Given the description of an element on the screen output the (x, y) to click on. 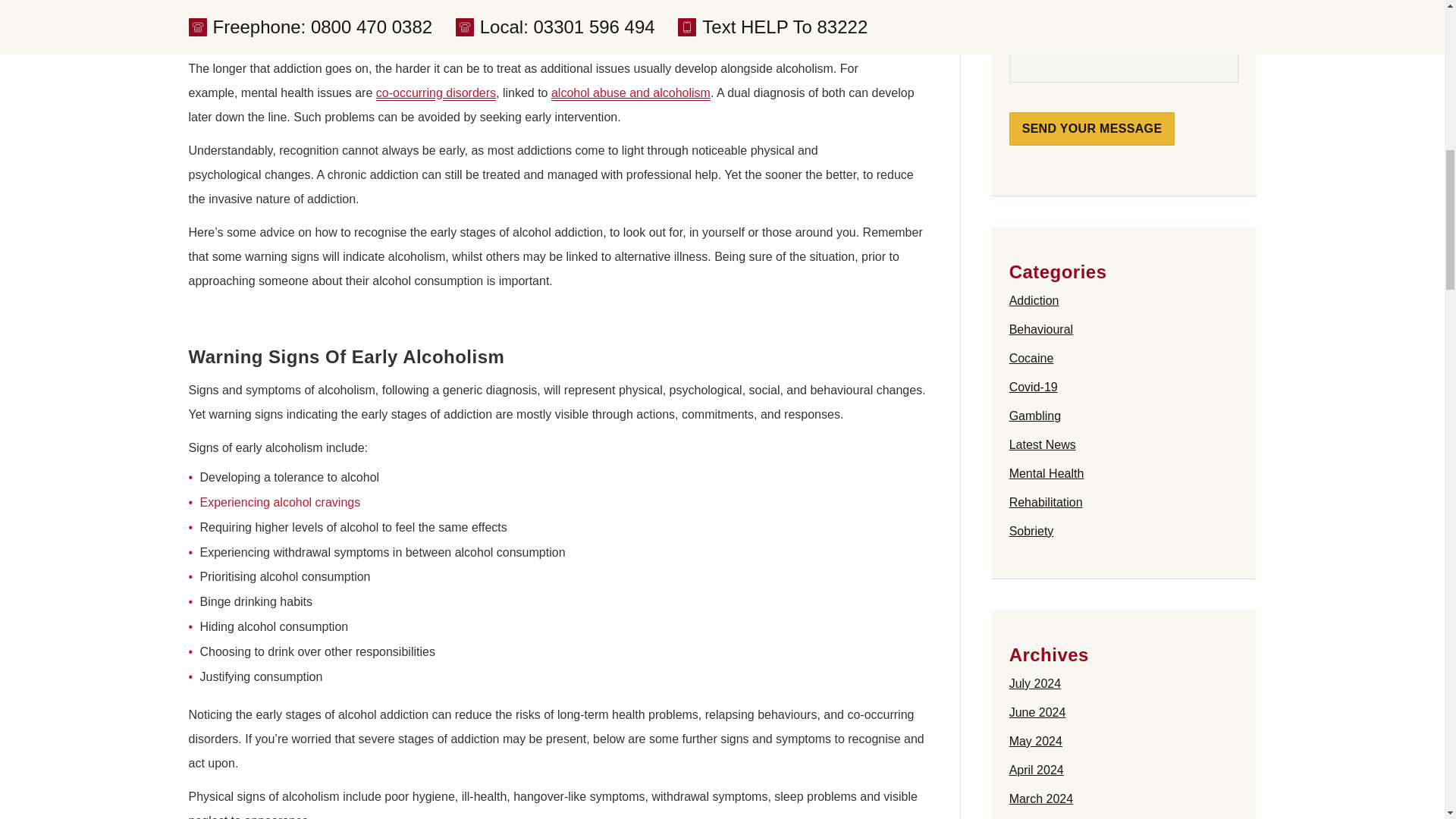
Send Your Message (1091, 128)
